Given the description of an element on the screen output the (x, y) to click on. 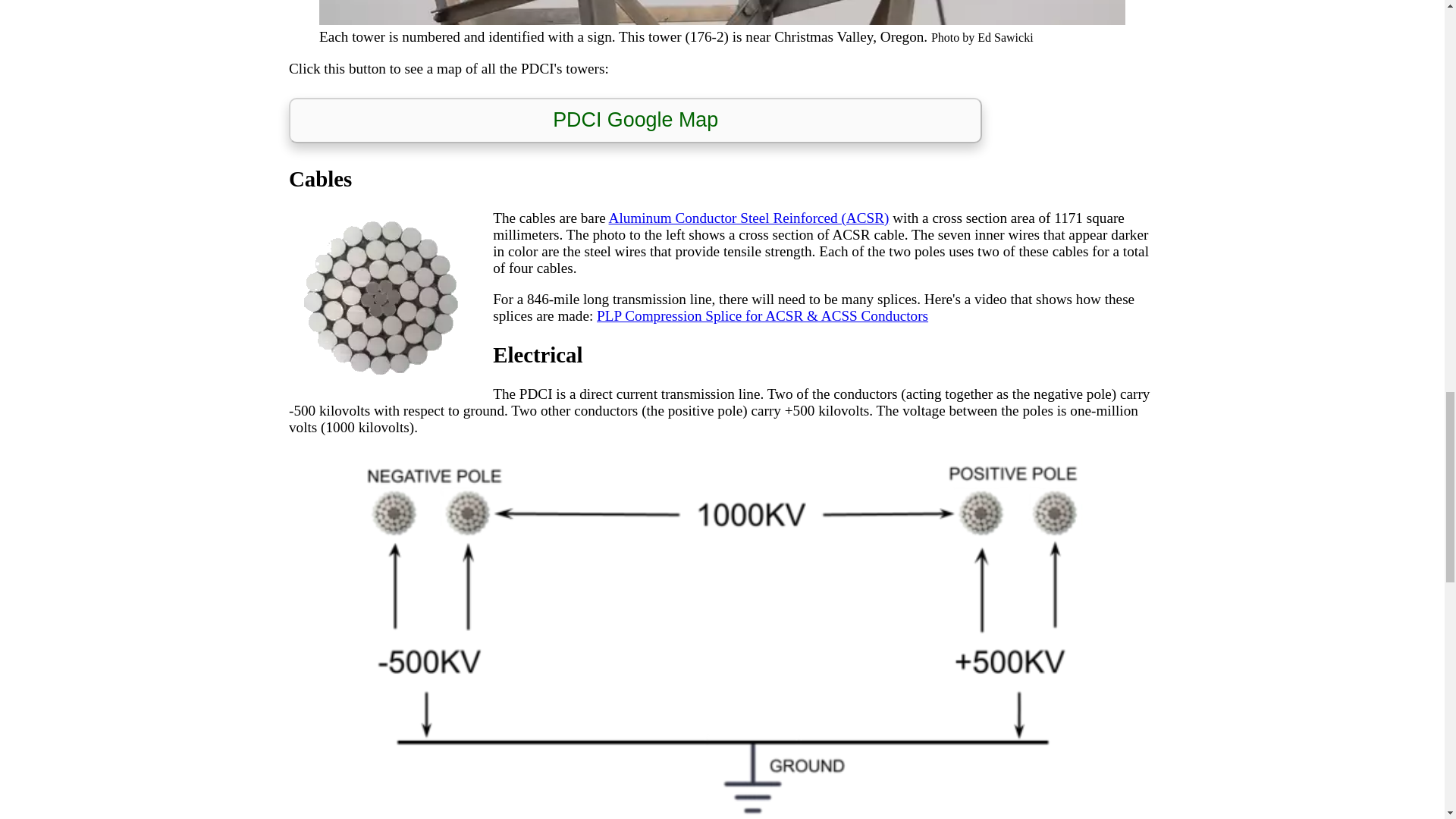
PDCI Google Map (634, 121)
PDCI Google Map (634, 120)
